Given the description of an element on the screen output the (x, y) to click on. 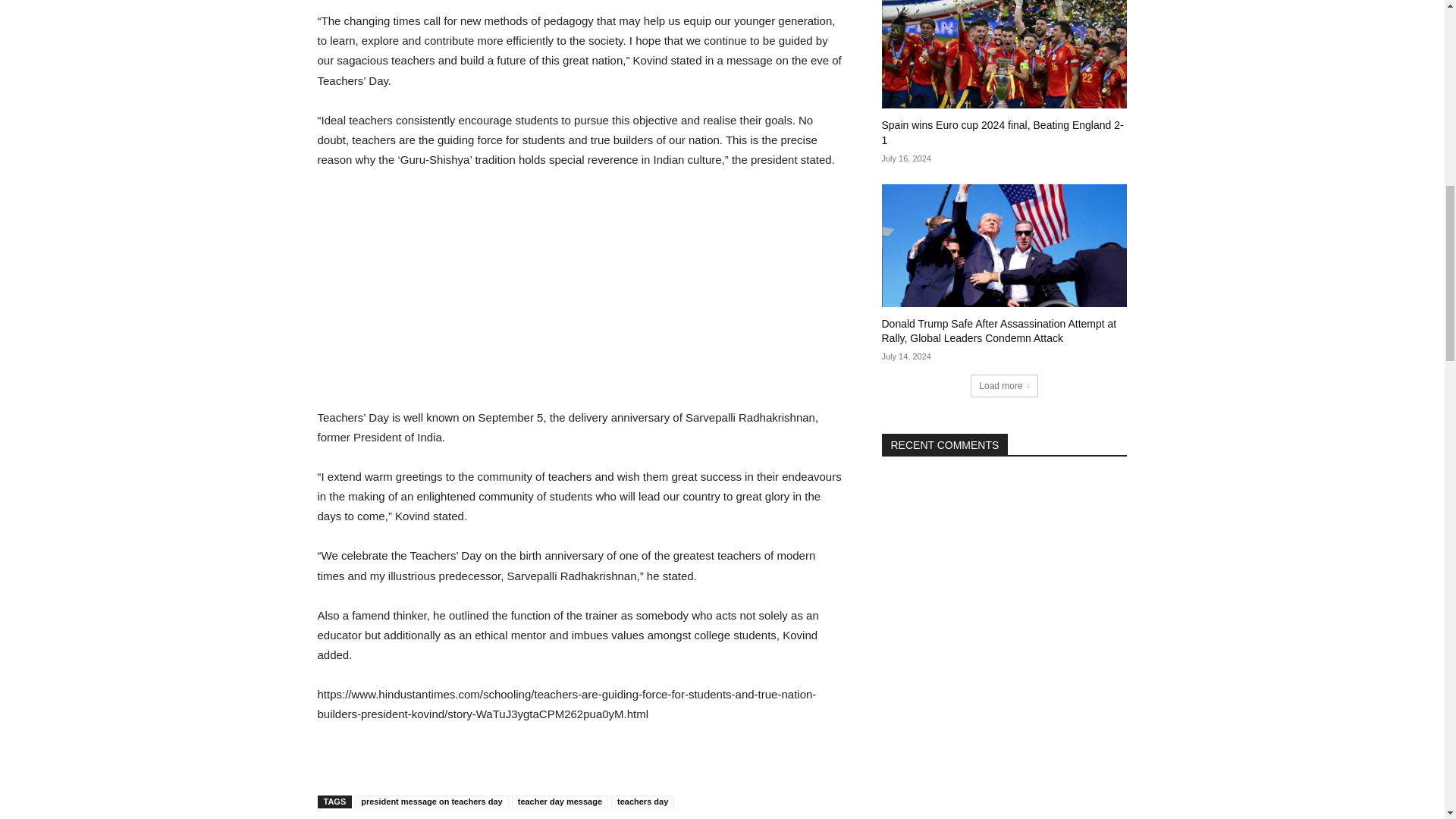
Advertisement (580, 295)
